Given the description of an element on the screen output the (x, y) to click on. 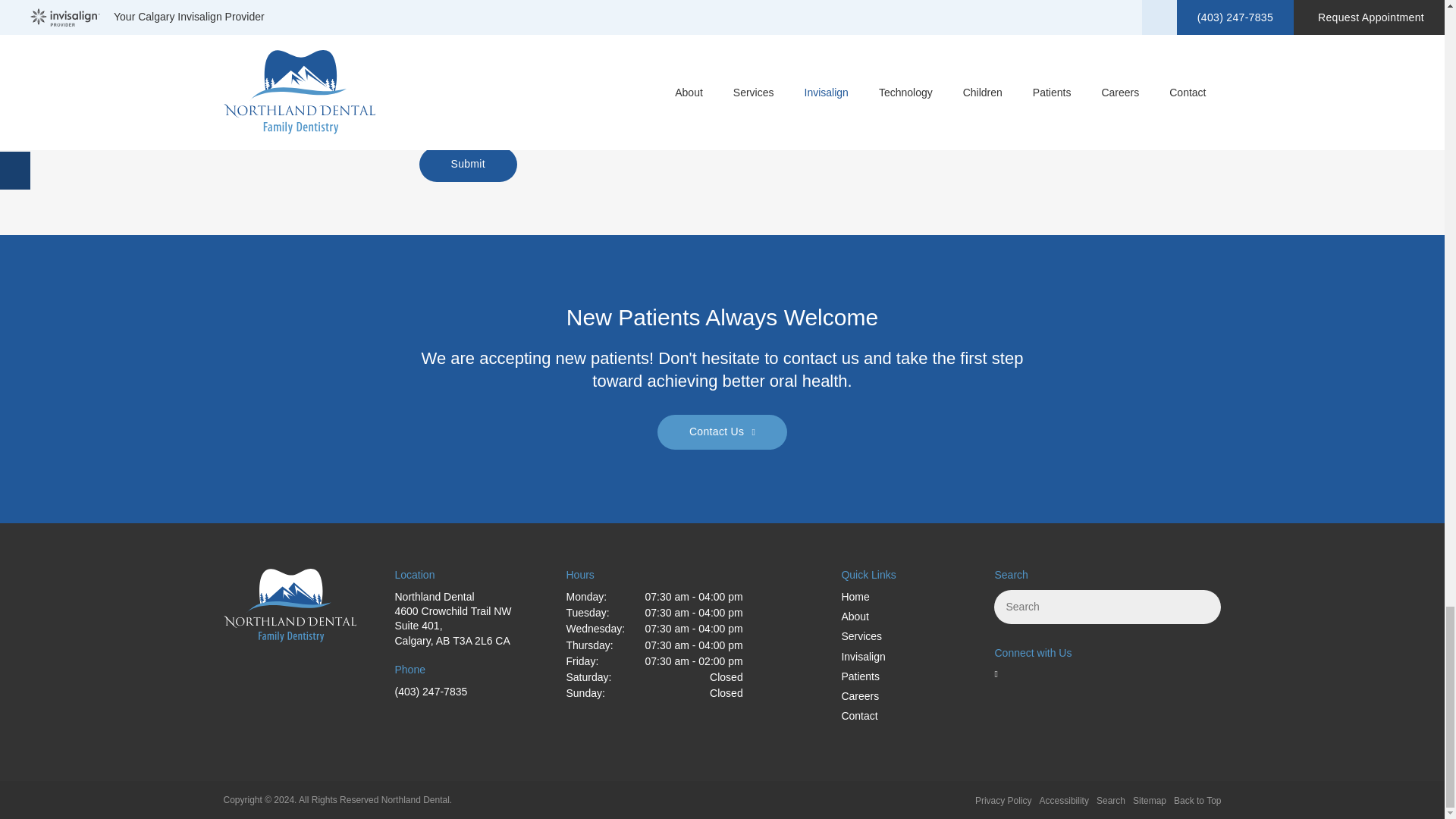
Submit (467, 164)
